Given the description of an element on the screen output the (x, y) to click on. 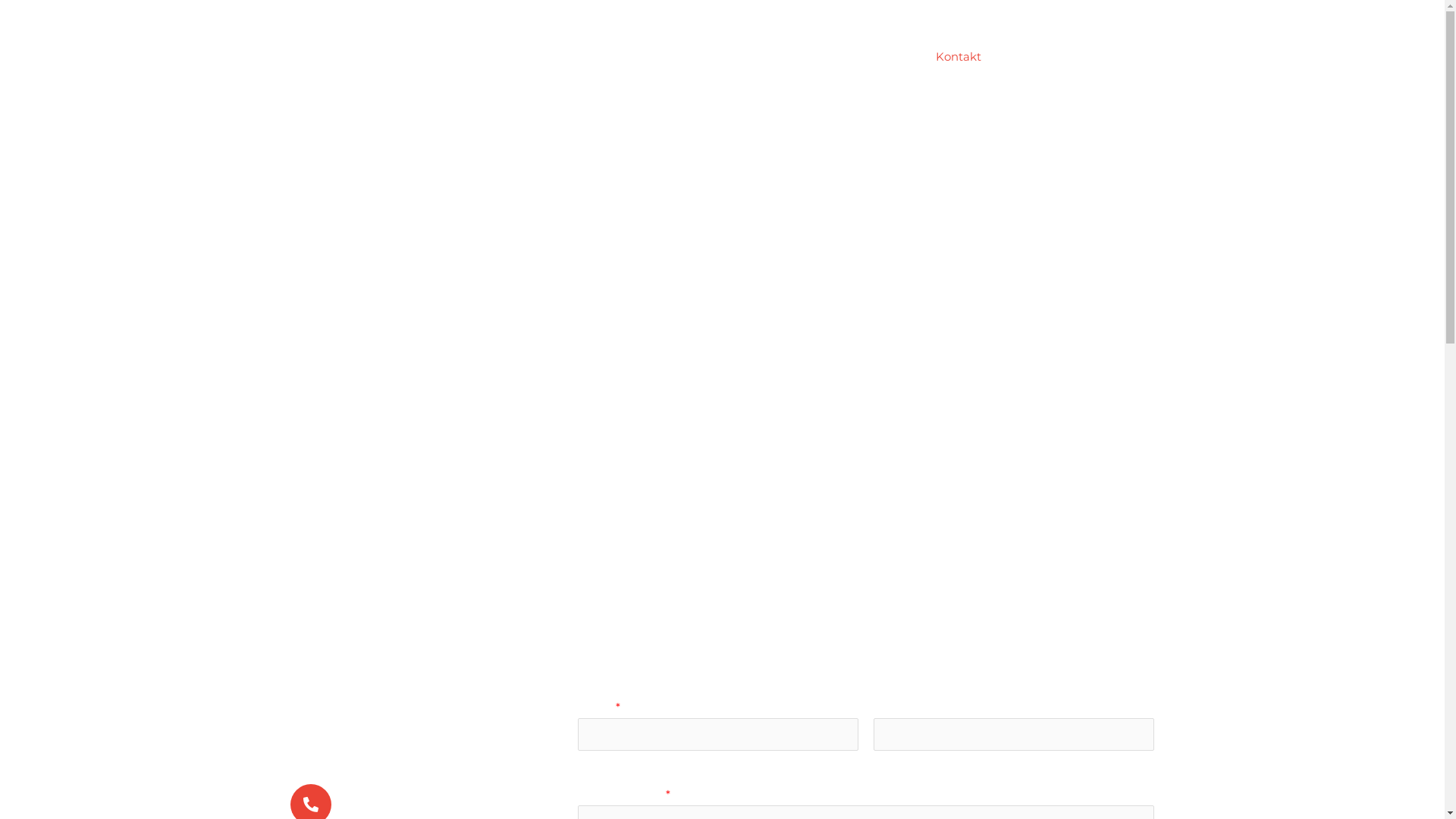
LASS UNS REDEN Element type: text (1091, 57)
Dienstleistung Element type: text (675, 56)
Telefon Element type: text (367, 796)
Work Element type: text (754, 56)
Kontakt Element type: text (957, 56)
Reviews Element type: text (889, 56)
Home Element type: text (594, 56)
